Given the description of an element on the screen output the (x, y) to click on. 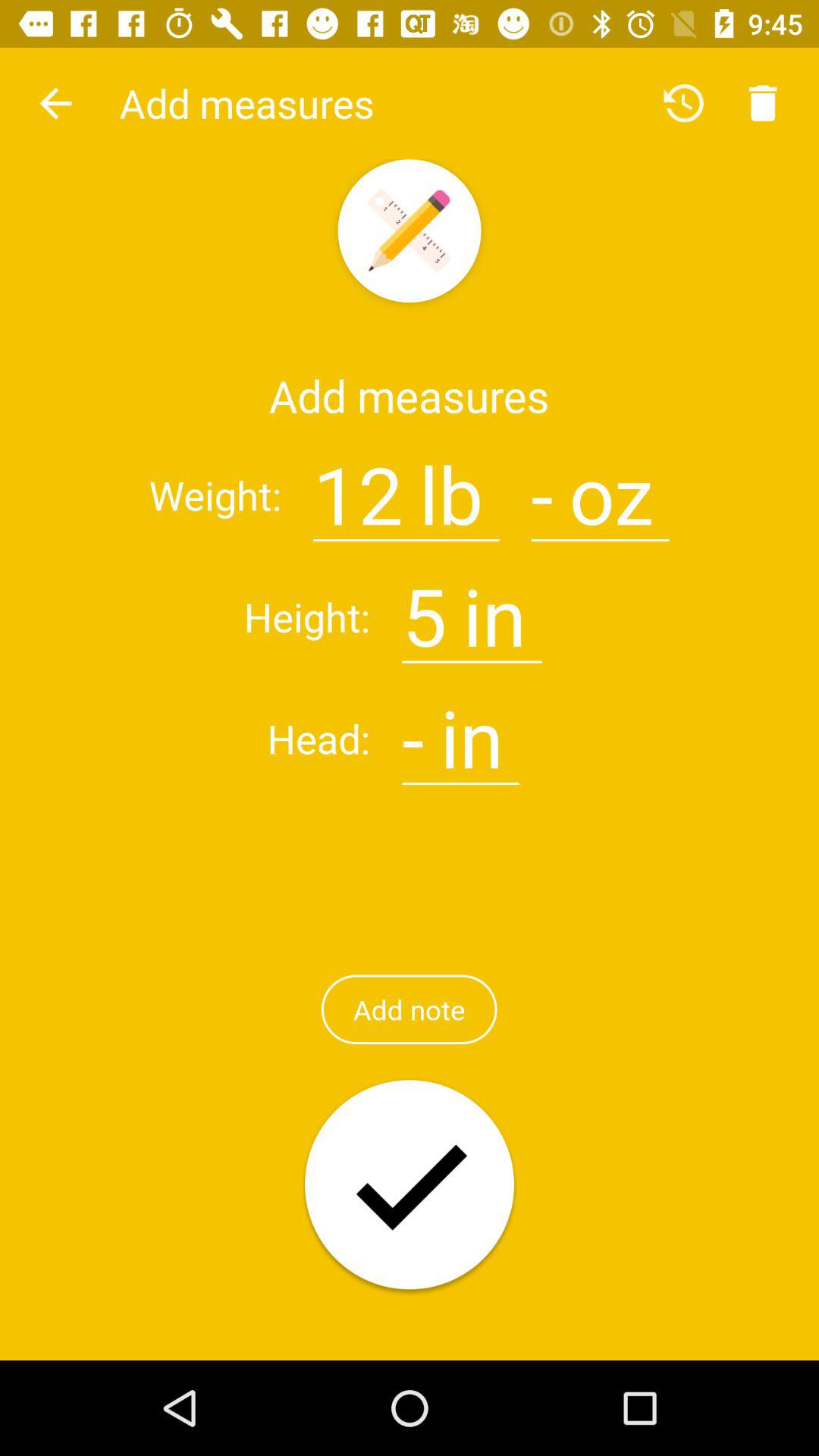
select the symbol bar (413, 728)
